Given the description of an element on the screen output the (x, y) to click on. 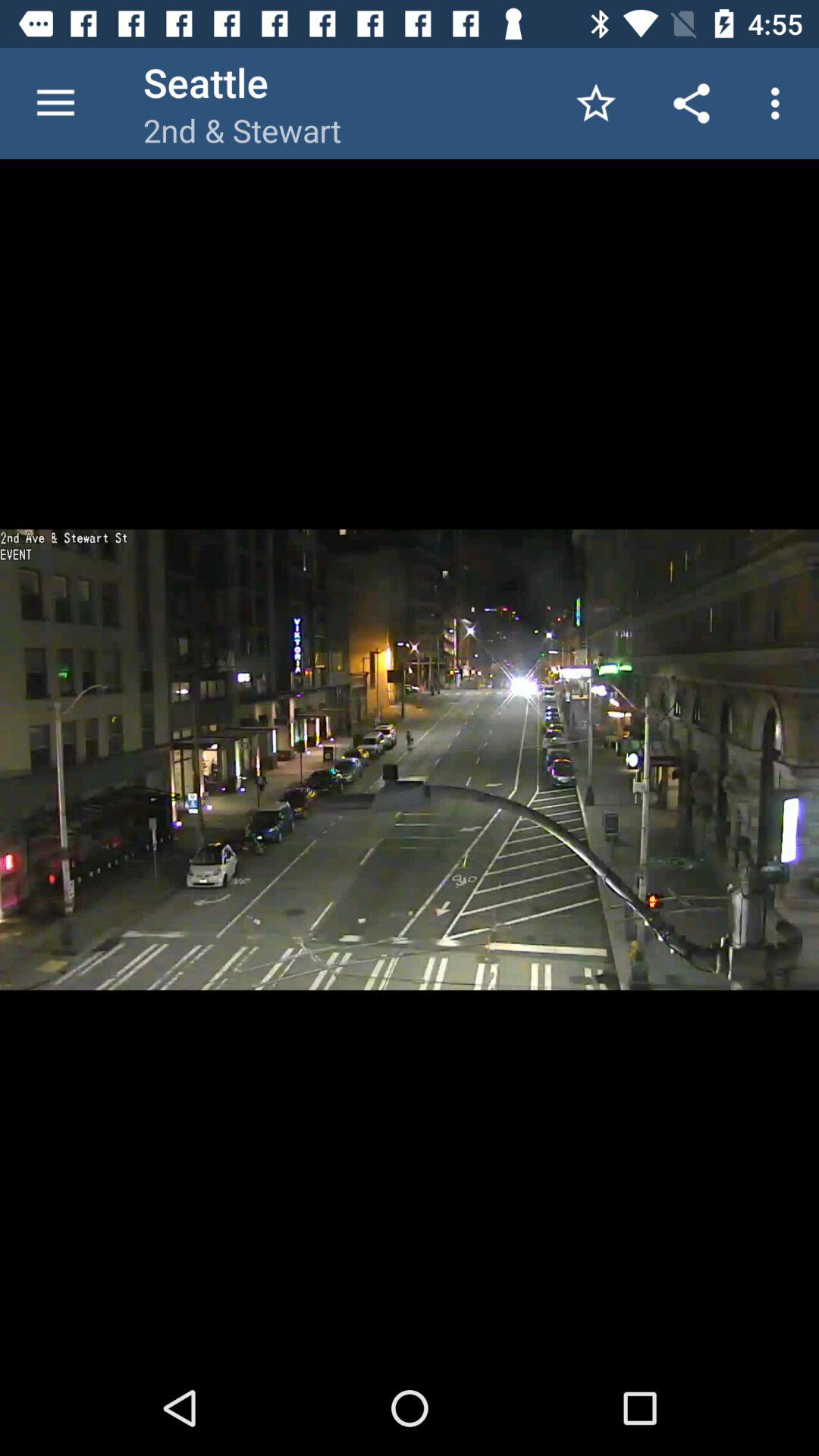
turn on item to the left of the seattle item (55, 103)
